Given the description of an element on the screen output the (x, y) to click on. 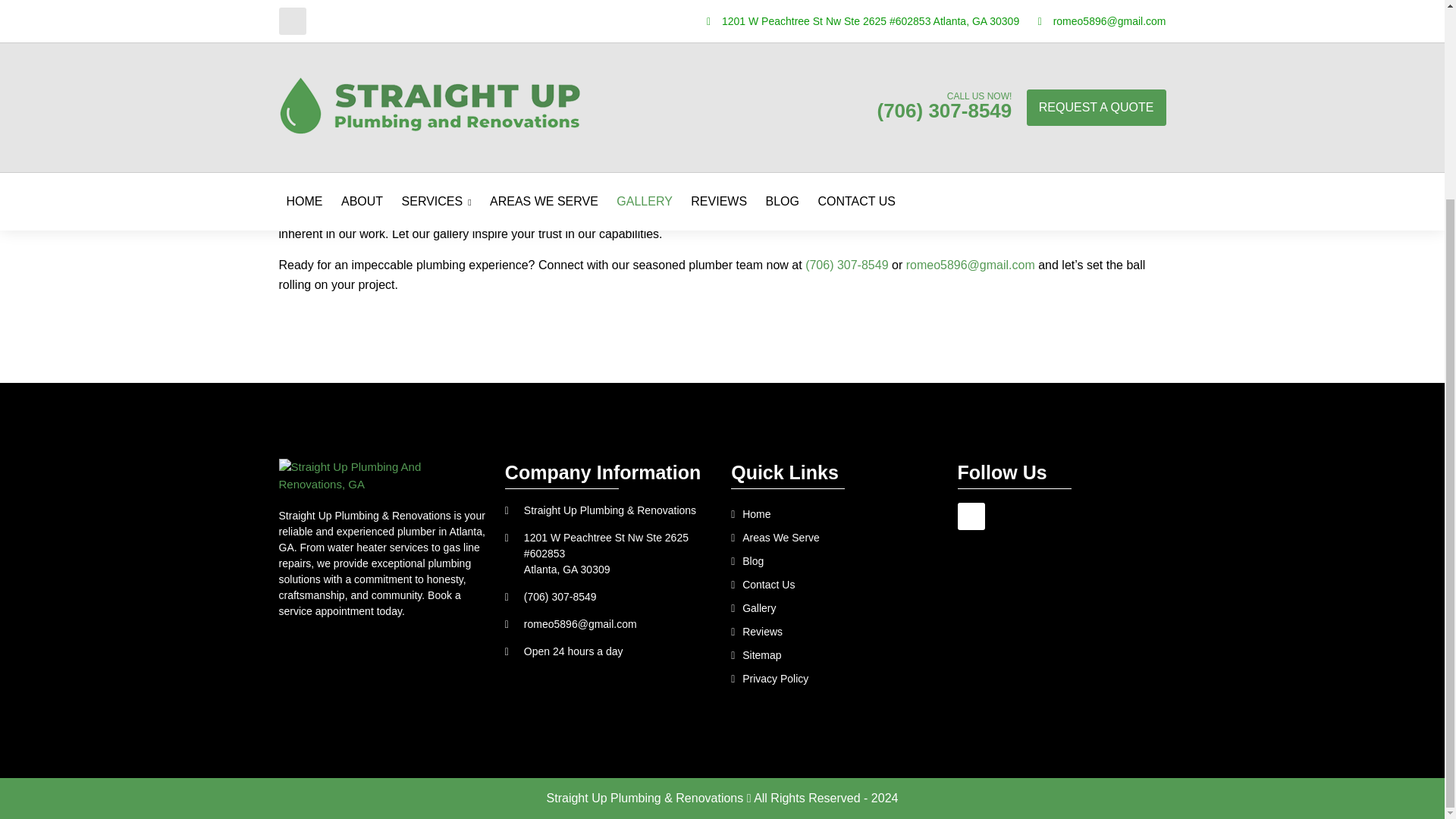
Straight Up Plumbing And Renovations (383, 475)
Google Business Profile (971, 515)
Contact Us (834, 585)
Areas We Serve (834, 537)
Privacy Policy (834, 679)
Sitemap (834, 654)
Gallery (834, 607)
Blog (834, 560)
Home (834, 513)
Reviews (834, 631)
